Given the description of an element on the screen output the (x, y) to click on. 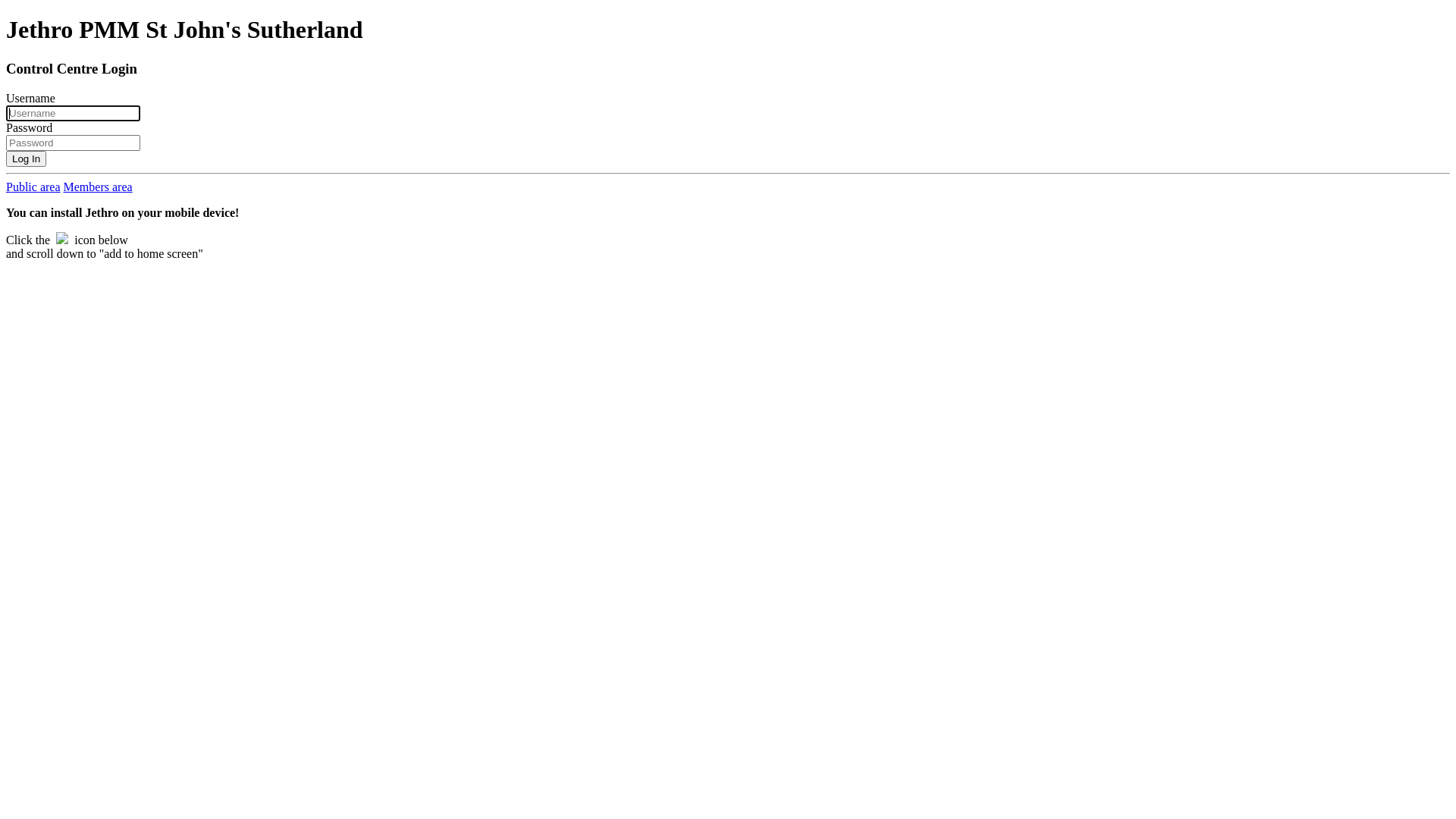
Log In Element type: text (26, 158)
Members area Element type: text (97, 186)
Public area Element type: text (33, 186)
